Given the description of an element on the screen output the (x, y) to click on. 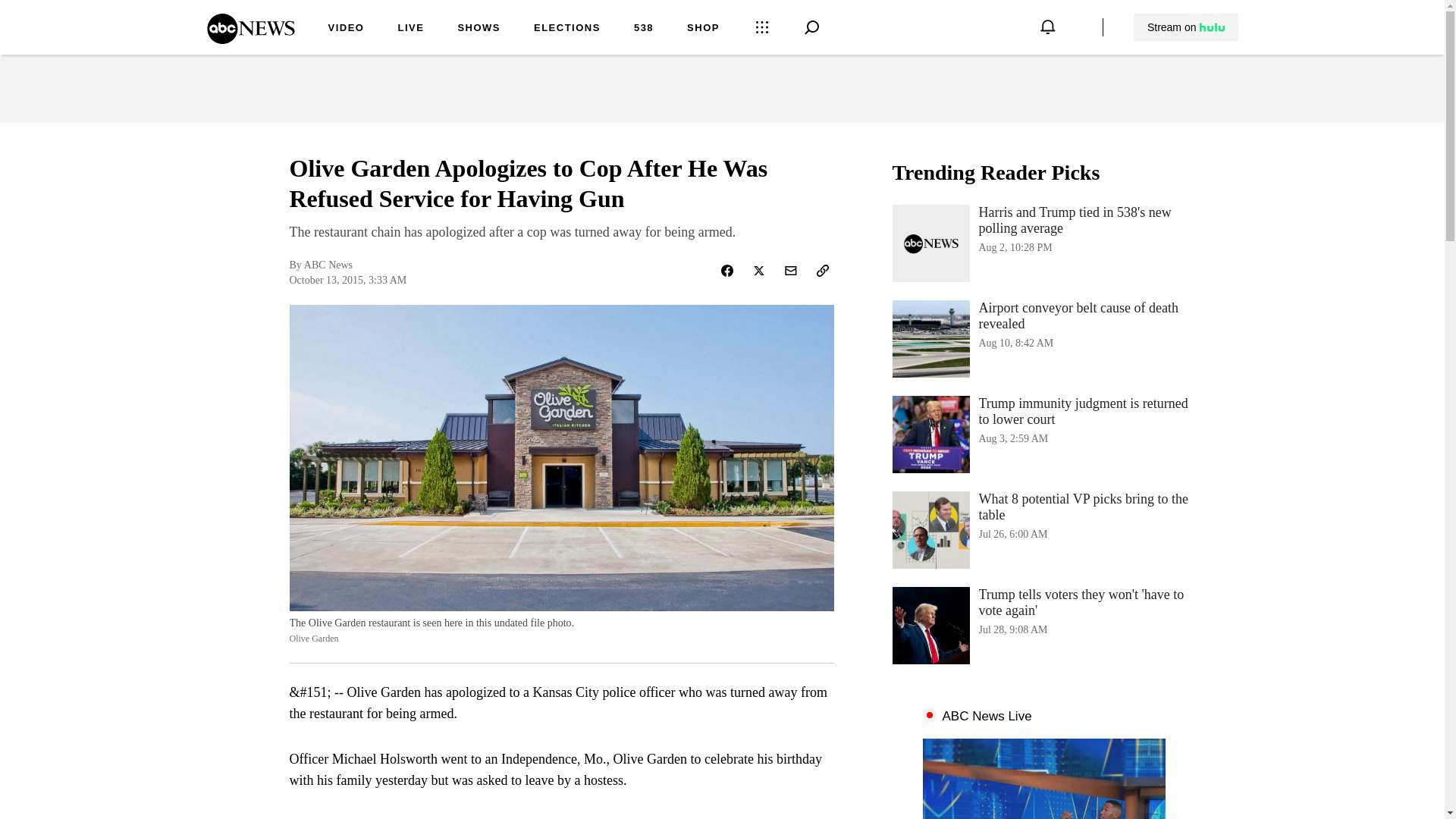
538 (643, 28)
VIDEO (345, 28)
Stream on (1185, 27)
ABC News (250, 38)
SHOWS (478, 28)
ELECTIONS (566, 28)
LIVE (410, 28)
SHOP (703, 28)
